Given the description of an element on the screen output the (x, y) to click on. 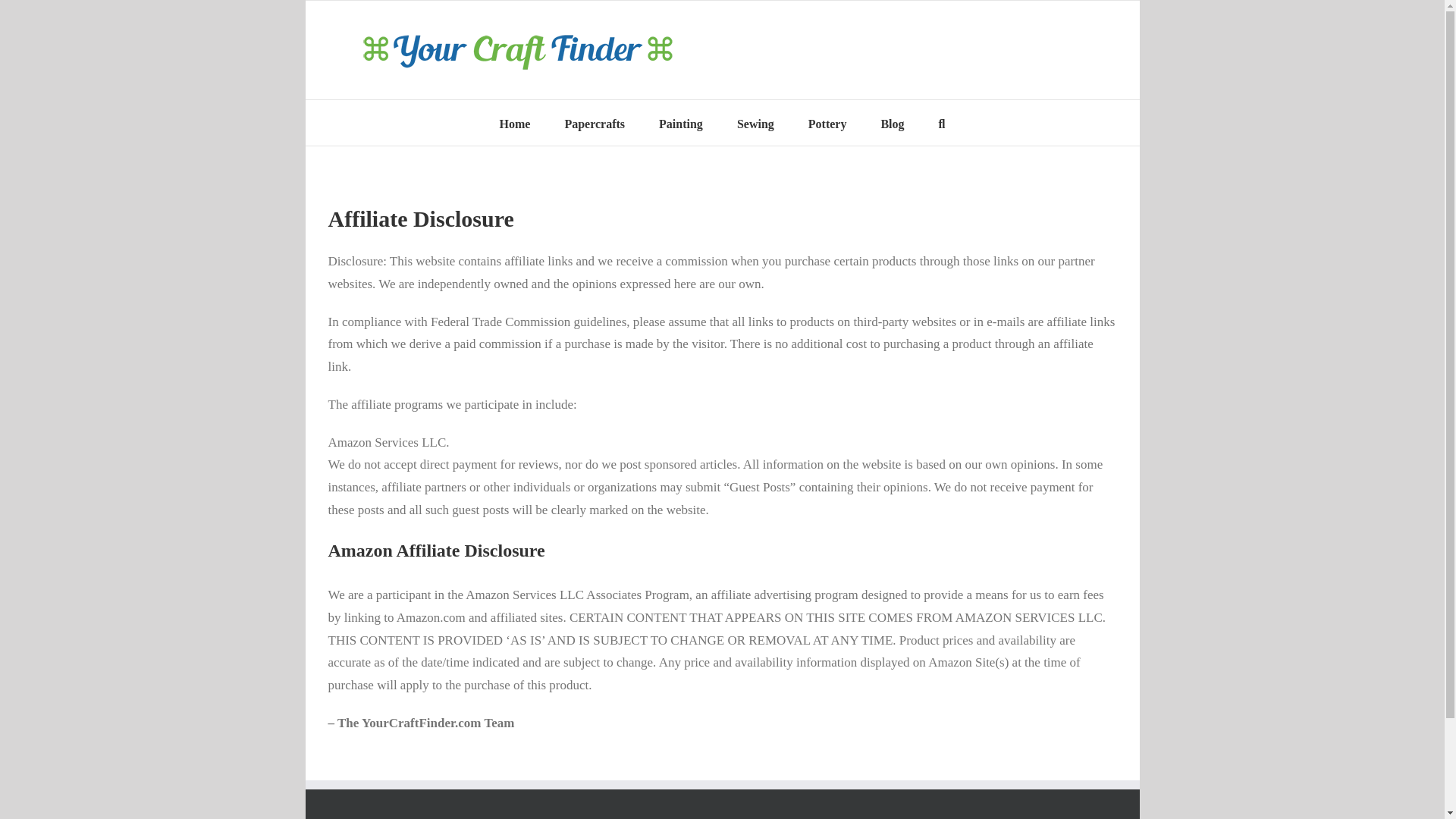
Pottery (827, 122)
Search (941, 122)
Home (515, 122)
Painting (681, 122)
Papercrafts (594, 122)
Sewing (755, 122)
Blog (892, 122)
